Given the description of an element on the screen output the (x, y) to click on. 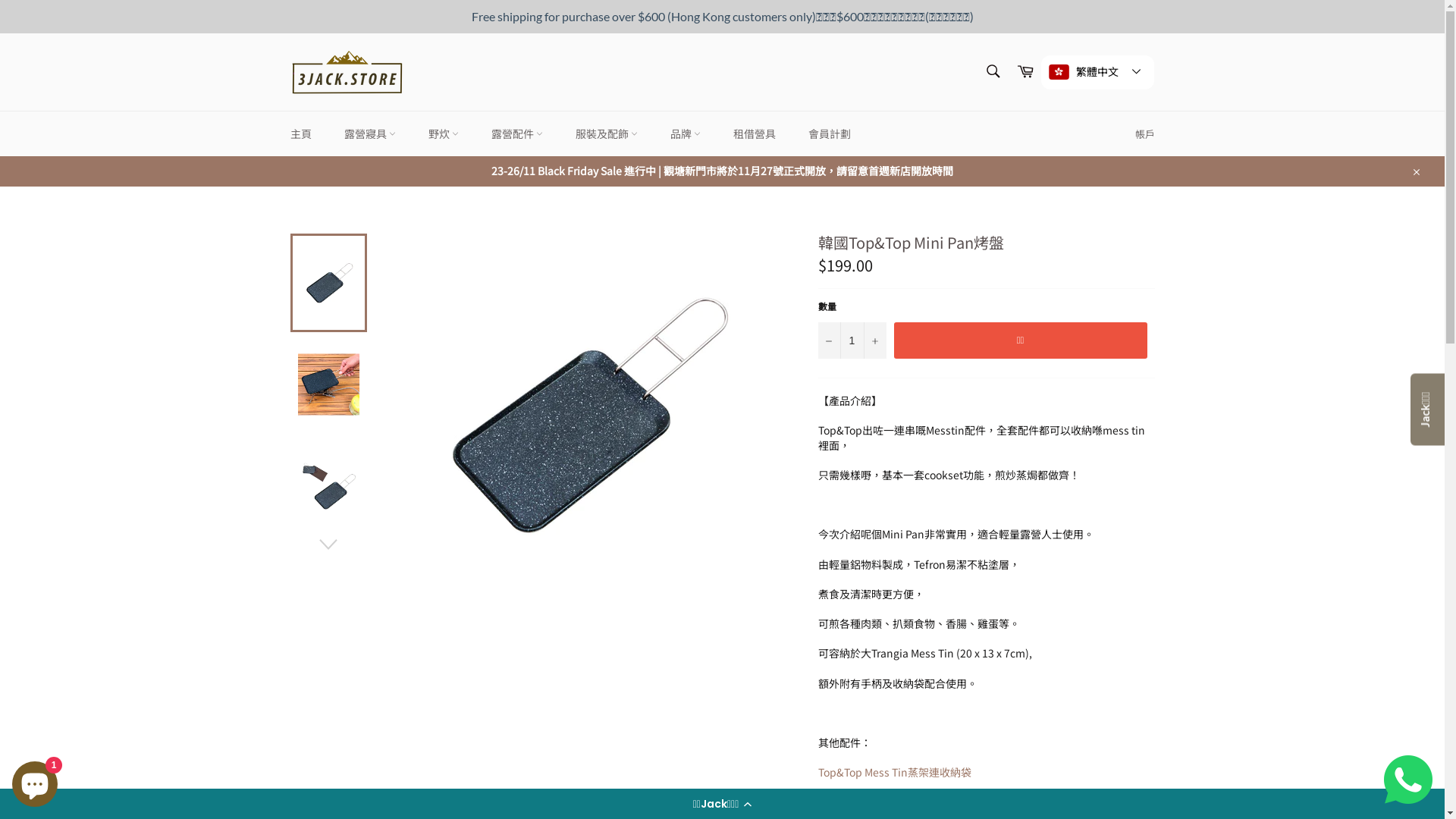
+ Element type: text (873, 340)
